Given the description of an element on the screen output the (x, y) to click on. 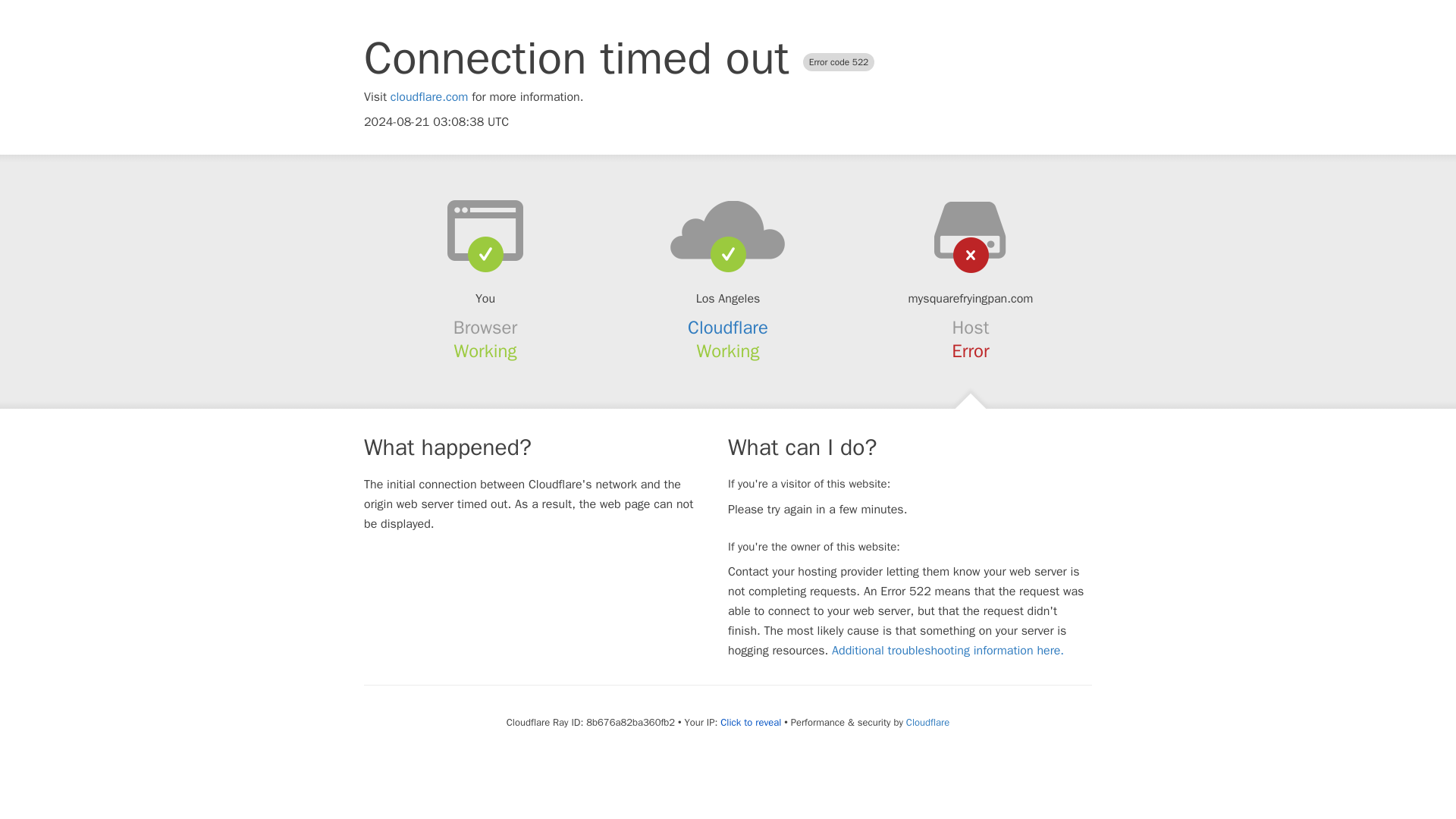
cloudflare.com (429, 96)
Additional troubleshooting information here. (947, 650)
Click to reveal (750, 722)
Cloudflare (727, 327)
Cloudflare (927, 721)
